Given the description of an element on the screen output the (x, y) to click on. 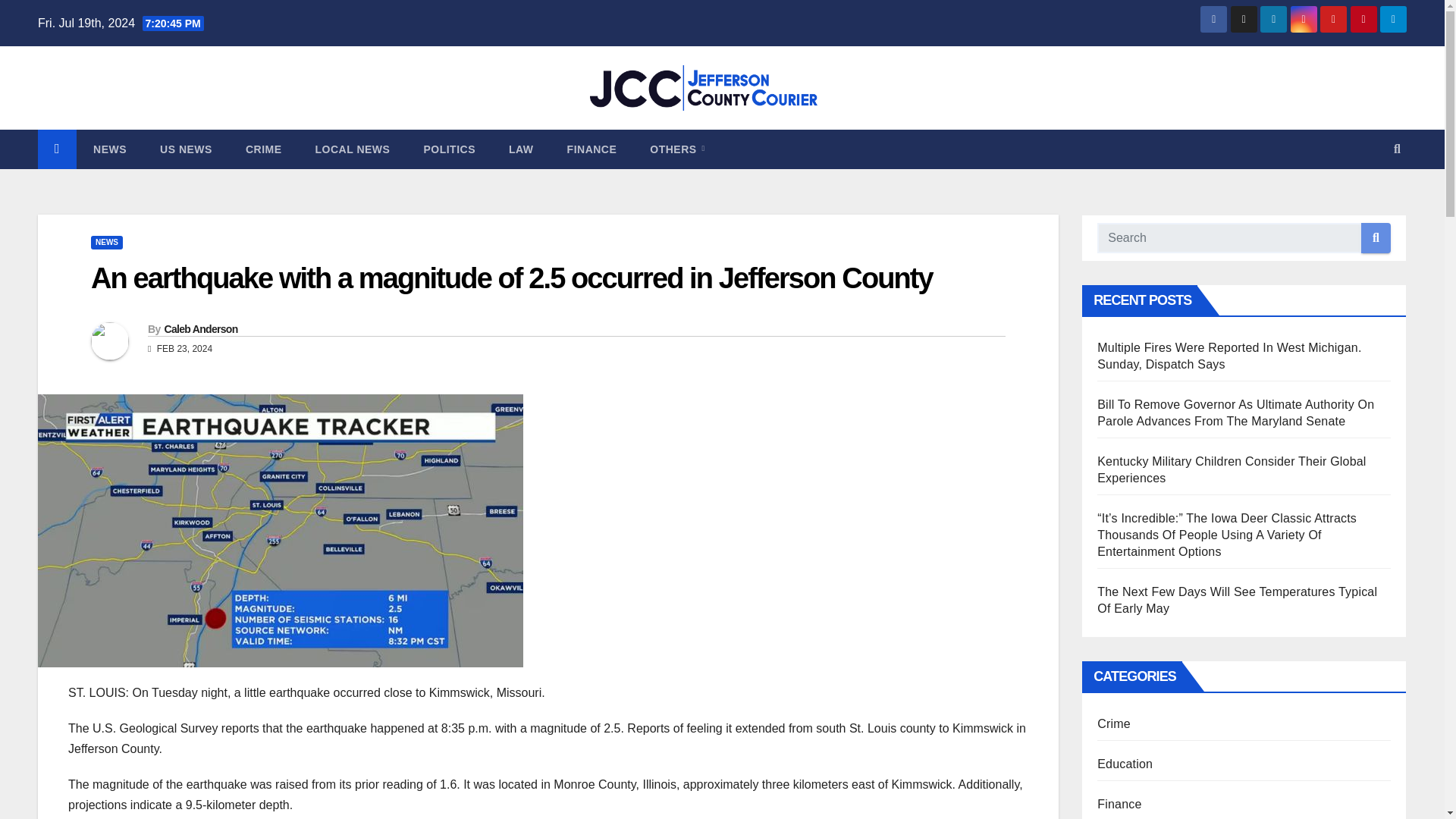
CRIME (263, 148)
US NEWS (185, 148)
FINANCE (591, 148)
Local News (352, 148)
Others (676, 148)
OTHERS (676, 148)
Caleb Anderson (200, 328)
NEWS (106, 242)
POLITICS (449, 148)
Us News (185, 148)
LAW (521, 148)
Finance (591, 148)
Law (521, 148)
LOCAL NEWS (352, 148)
